Given the description of an element on the screen output the (x, y) to click on. 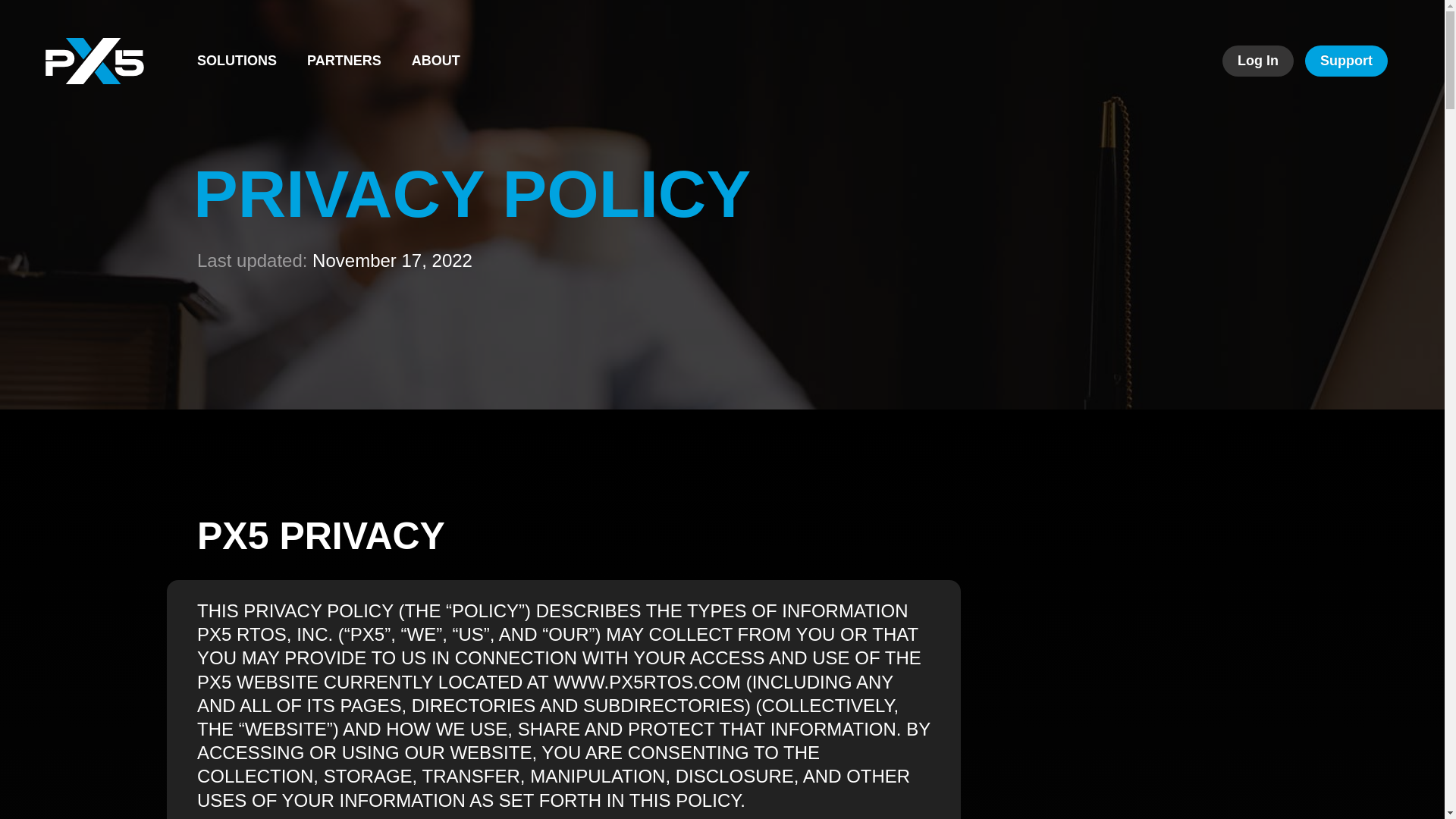
Log In (1258, 60)
SOLUTIONS (236, 60)
ABOUT (436, 60)
PARTNERS (344, 60)
Support (1345, 60)
